Given the description of an element on the screen output the (x, y) to click on. 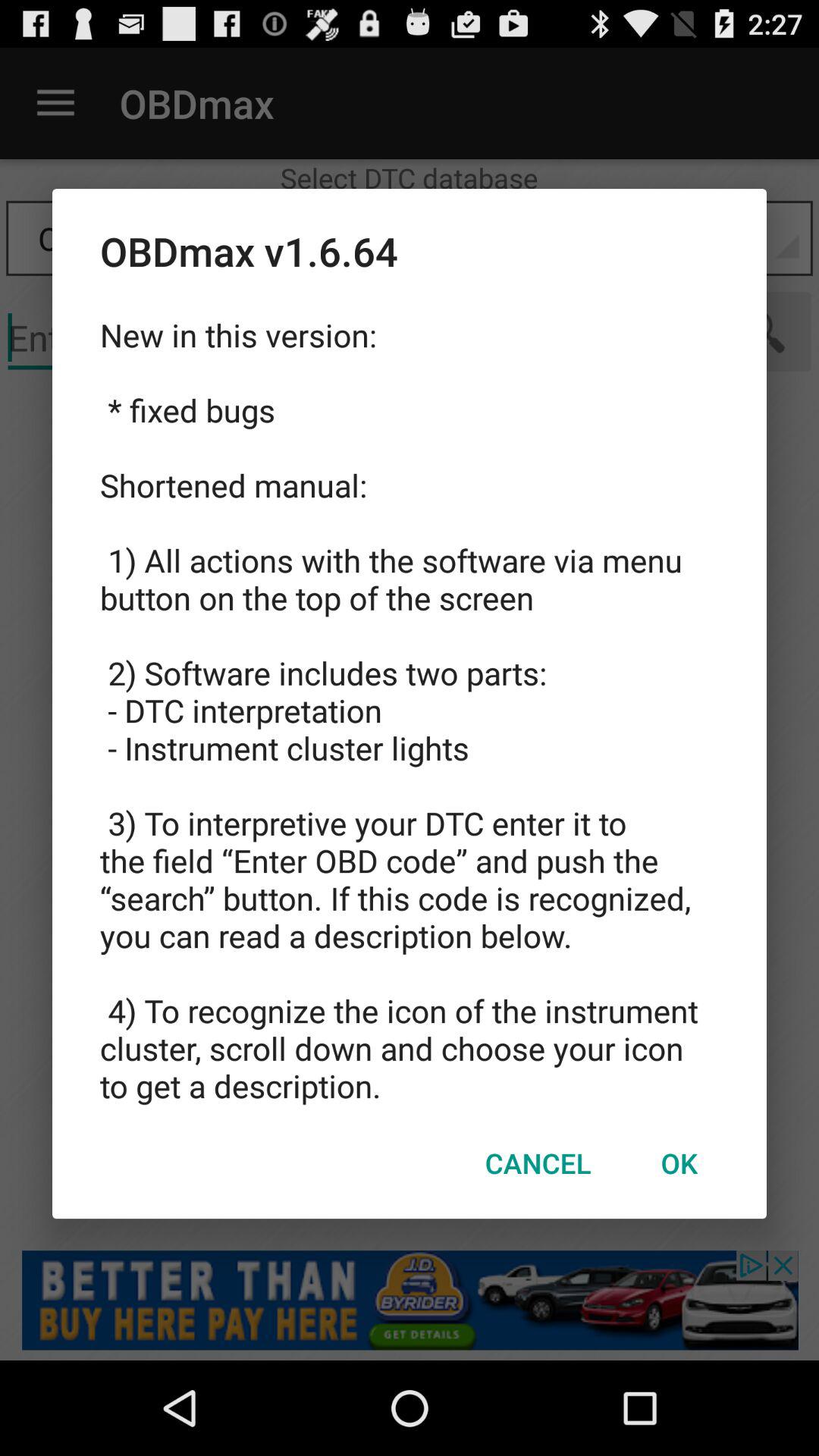
press the ok icon (678, 1162)
